Given the description of an element on the screen output the (x, y) to click on. 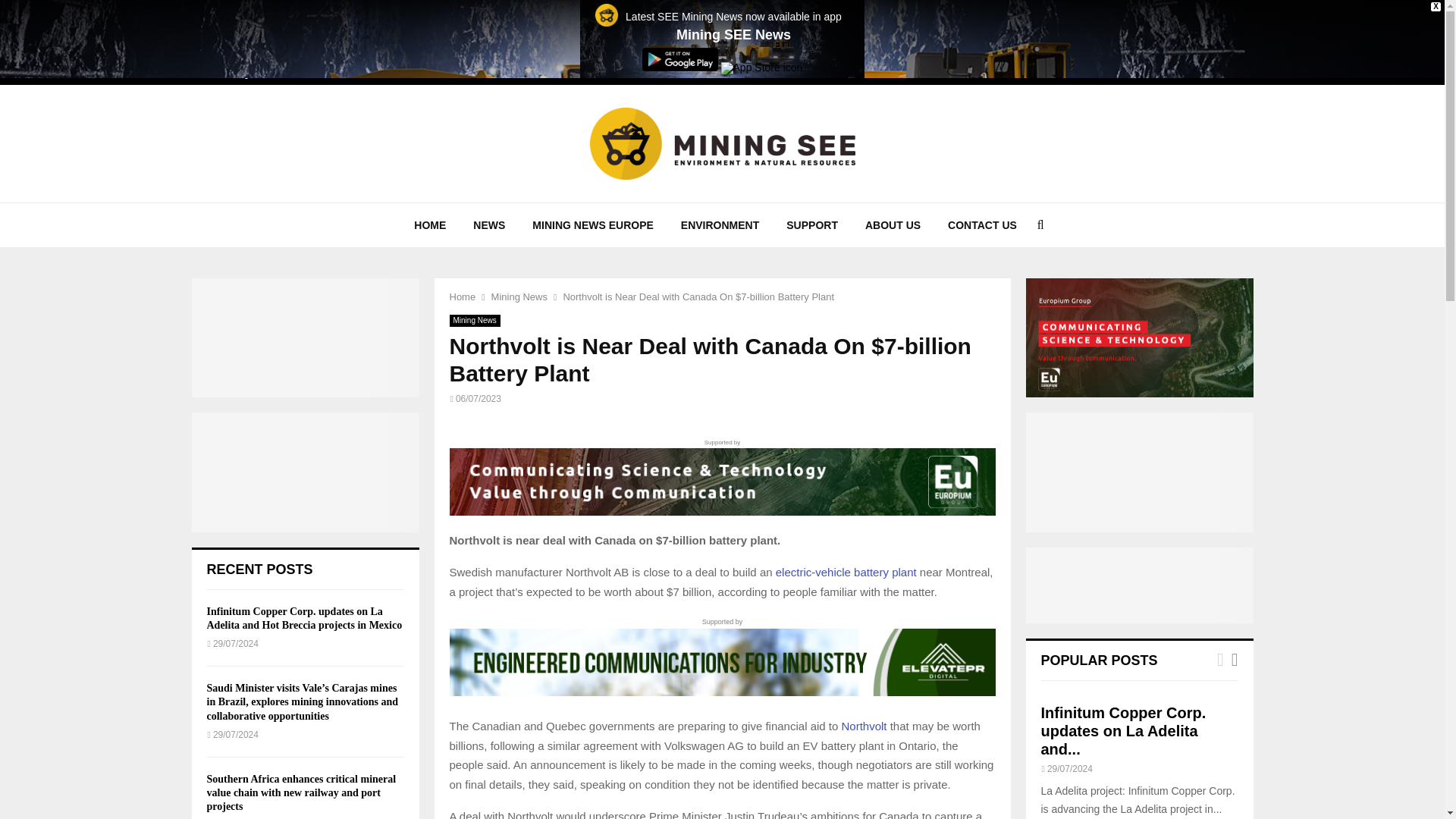
Mining News (519, 296)
Northvolt (863, 725)
Home (462, 296)
SUPPORT (812, 225)
Supported by (721, 476)
Mining News (473, 320)
HOME (430, 225)
CONTACT US (982, 225)
ABOUT US (892, 225)
MINING NEWS EUROPE (592, 225)
NEWS (489, 225)
ENVIRONMENT (719, 225)
electric-vehicle battery plant (846, 571)
